Given the description of an element on the screen output the (x, y) to click on. 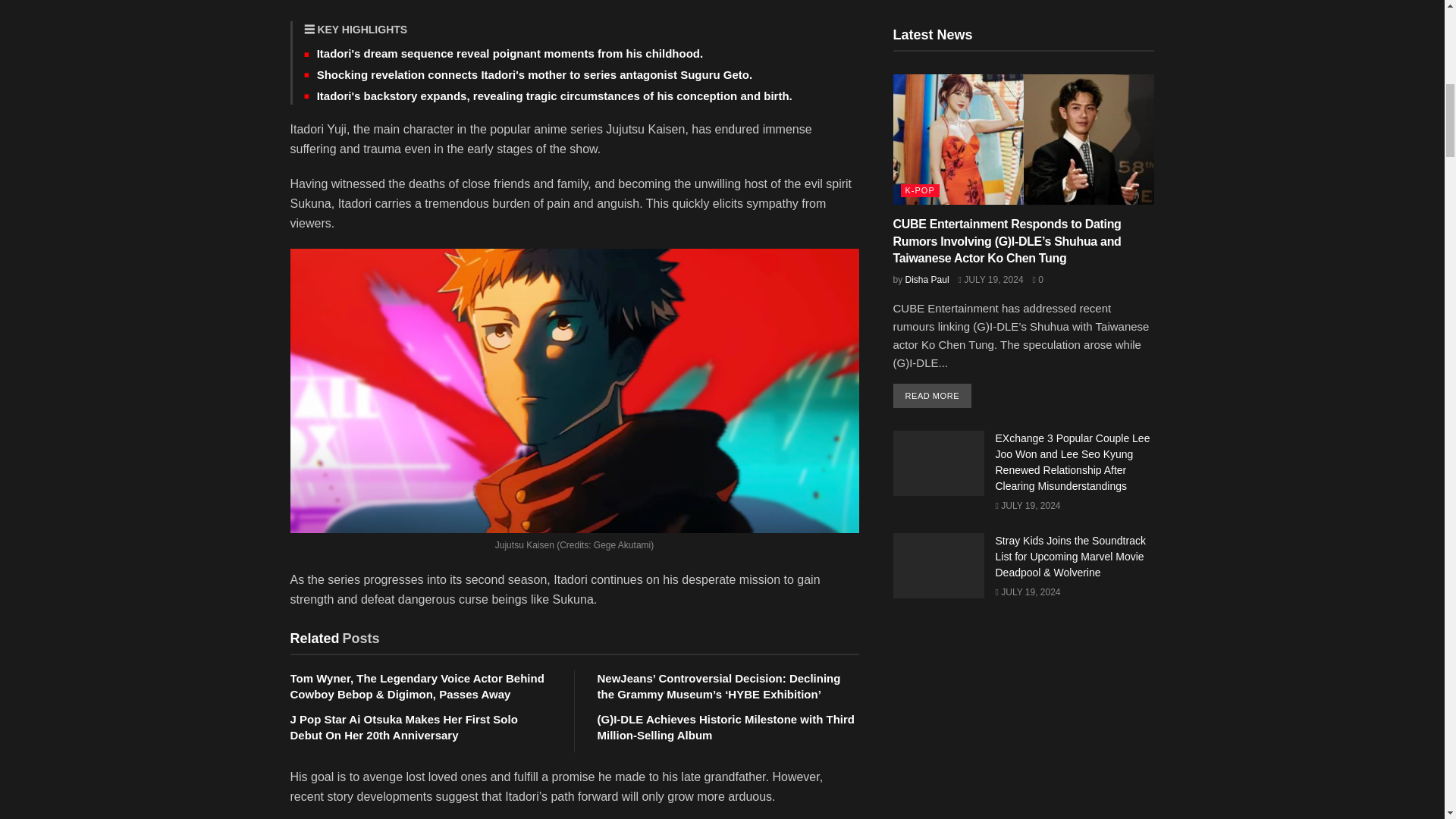
K-POP (920, 190)
Disha Paul (927, 279)
